Given the description of an element on the screen output the (x, y) to click on. 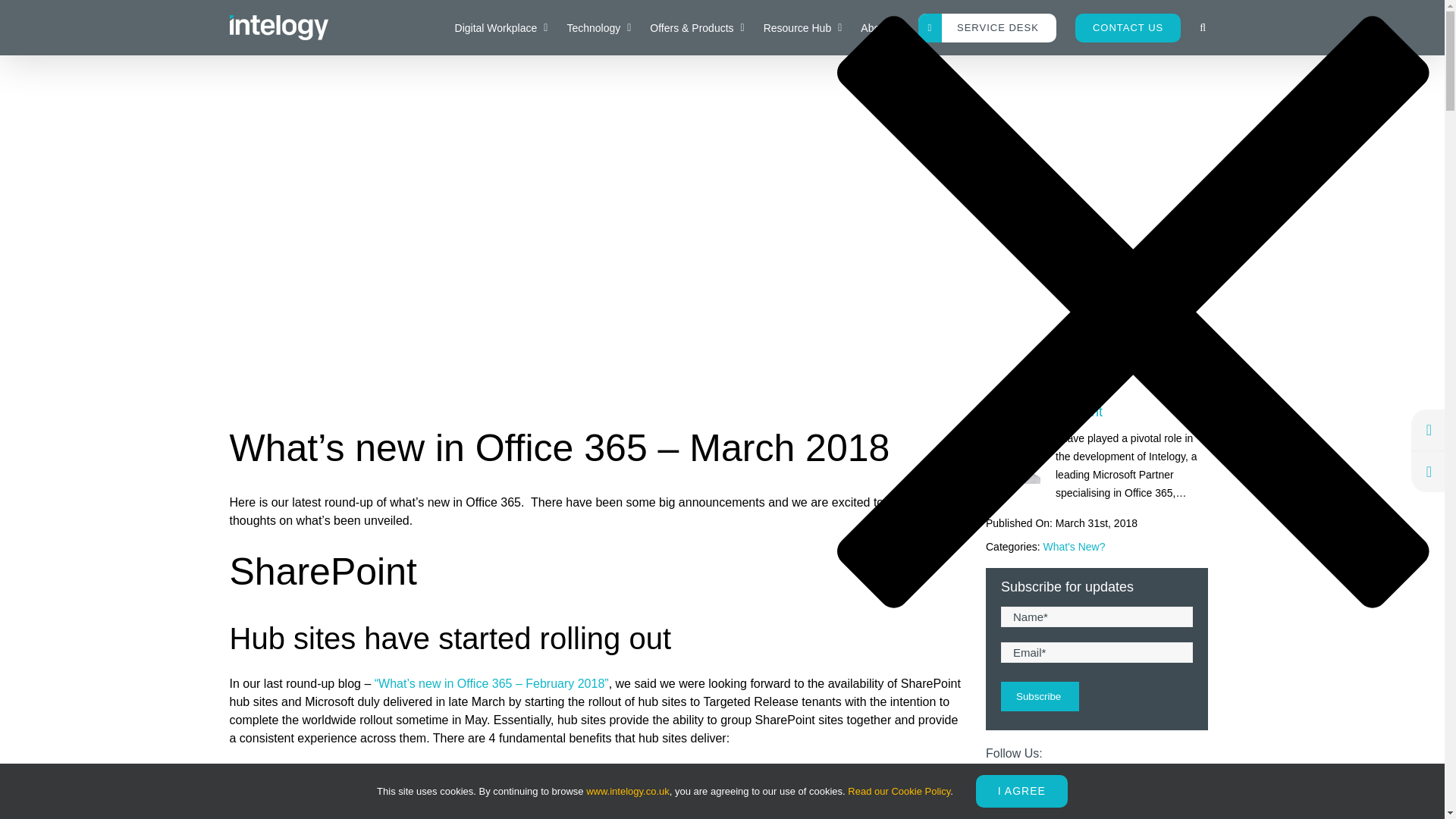
X (1036, 783)
Technology (598, 27)
YouTube (1072, 783)
Resource Hub (802, 27)
LinkedIn (999, 783)
Digital Workplace (501, 27)
Subscribe  (1039, 696)
